Given the description of an element on the screen output the (x, y) to click on. 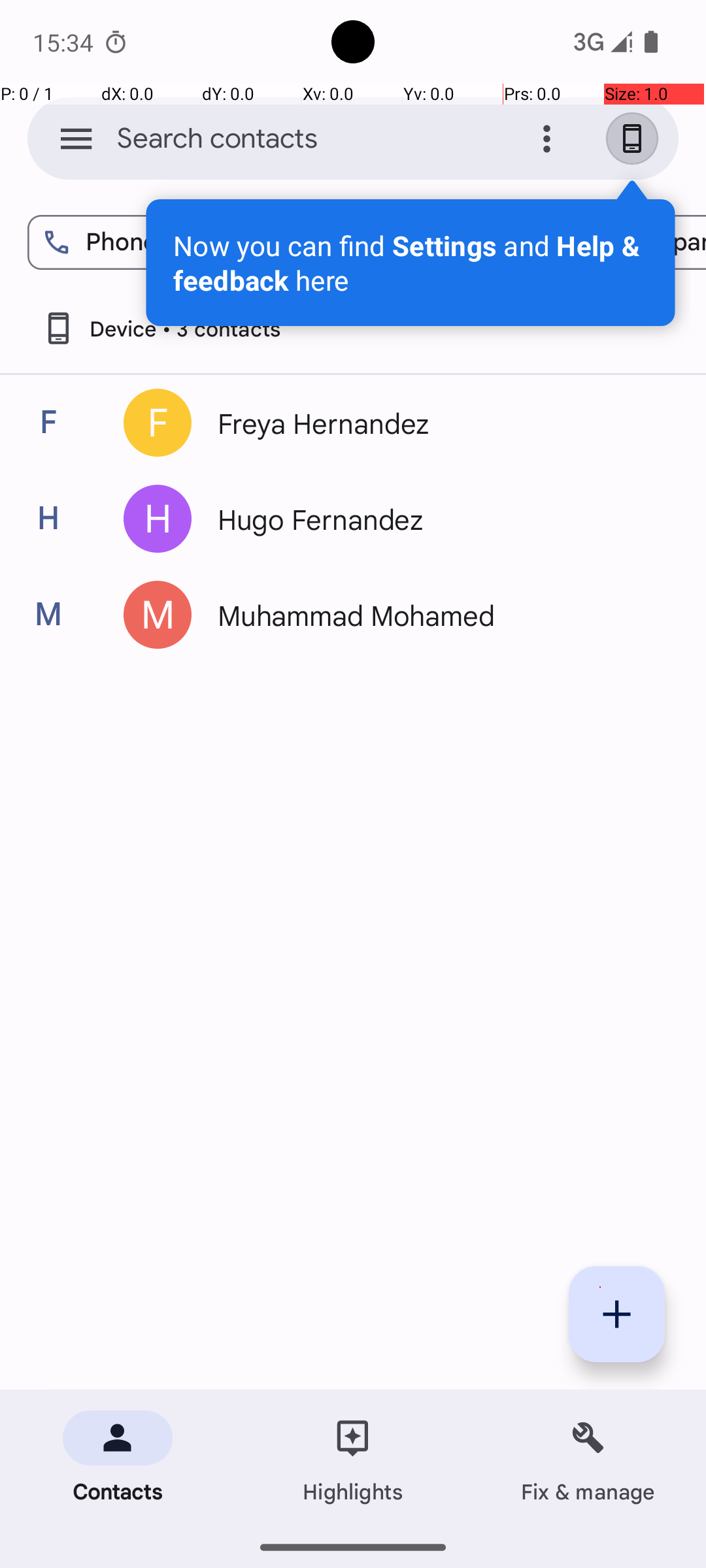
Device • 3 contacts Element type: android.widget.TextView (161, 328)
Freya Hernandez Element type: android.widget.TextView (434, 422)
Hugo Fernandez Element type: android.widget.TextView (434, 518)
Muhammad Mohamed Element type: android.widget.TextView (434, 614)
Now you can find Settings and Help & feedback here
Open account and settings. Element type: android.view.ViewGroup (409, 262)
